Given the description of an element on the screen output the (x, y) to click on. 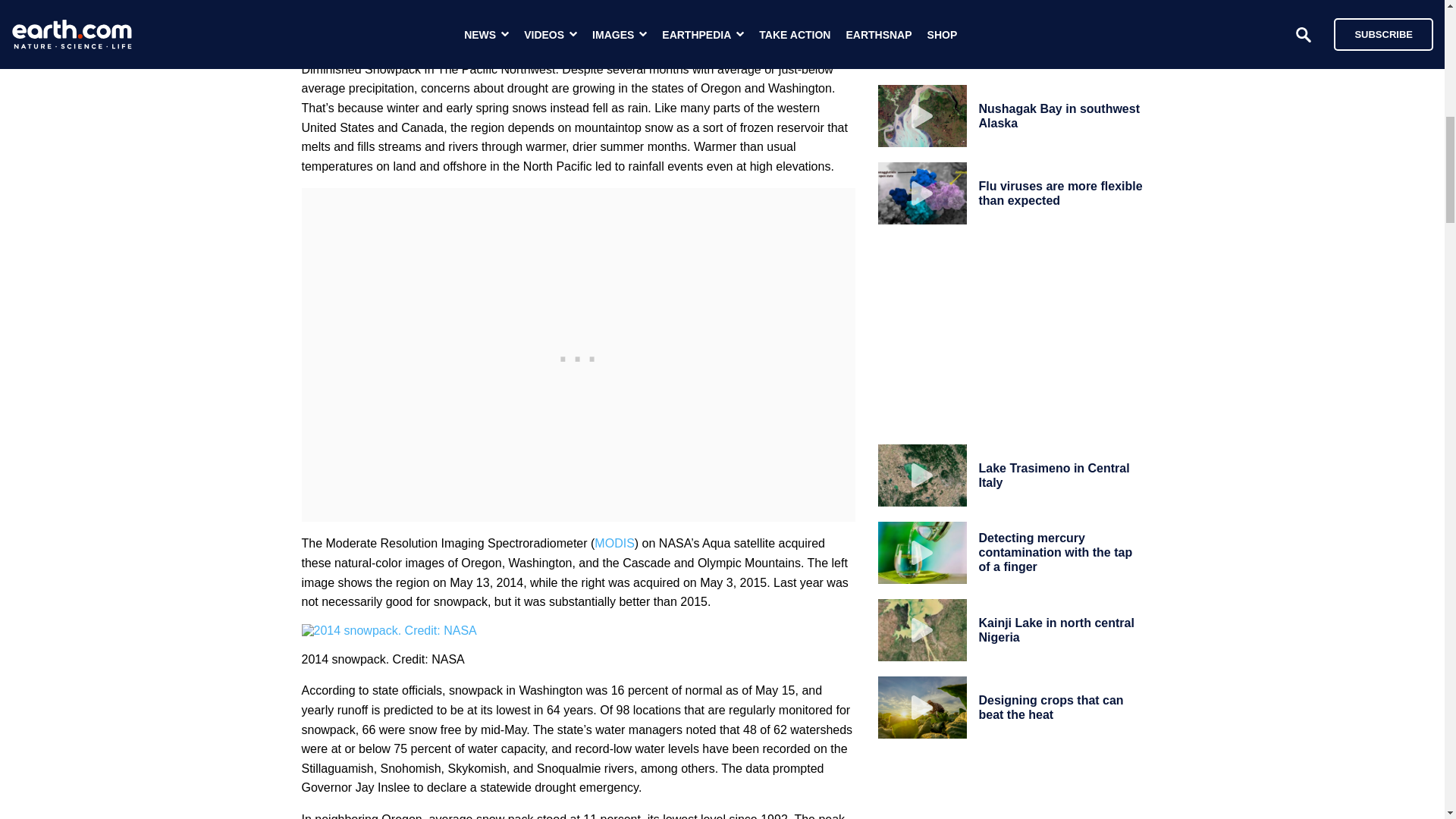
Designing crops that can beat the heat (1050, 706)
Detecting mercury contamination with the tap of a finger (1055, 552)
Flu viruses are more flexible than expected (1059, 192)
Lake Trasimeno in Central Italy (1053, 474)
MODIS (613, 543)
Kainji Lake in north central Nigeria (1056, 628)
Nushagak Bay in southwest Alaska (1059, 114)
